Given the description of an element on the screen output the (x, y) to click on. 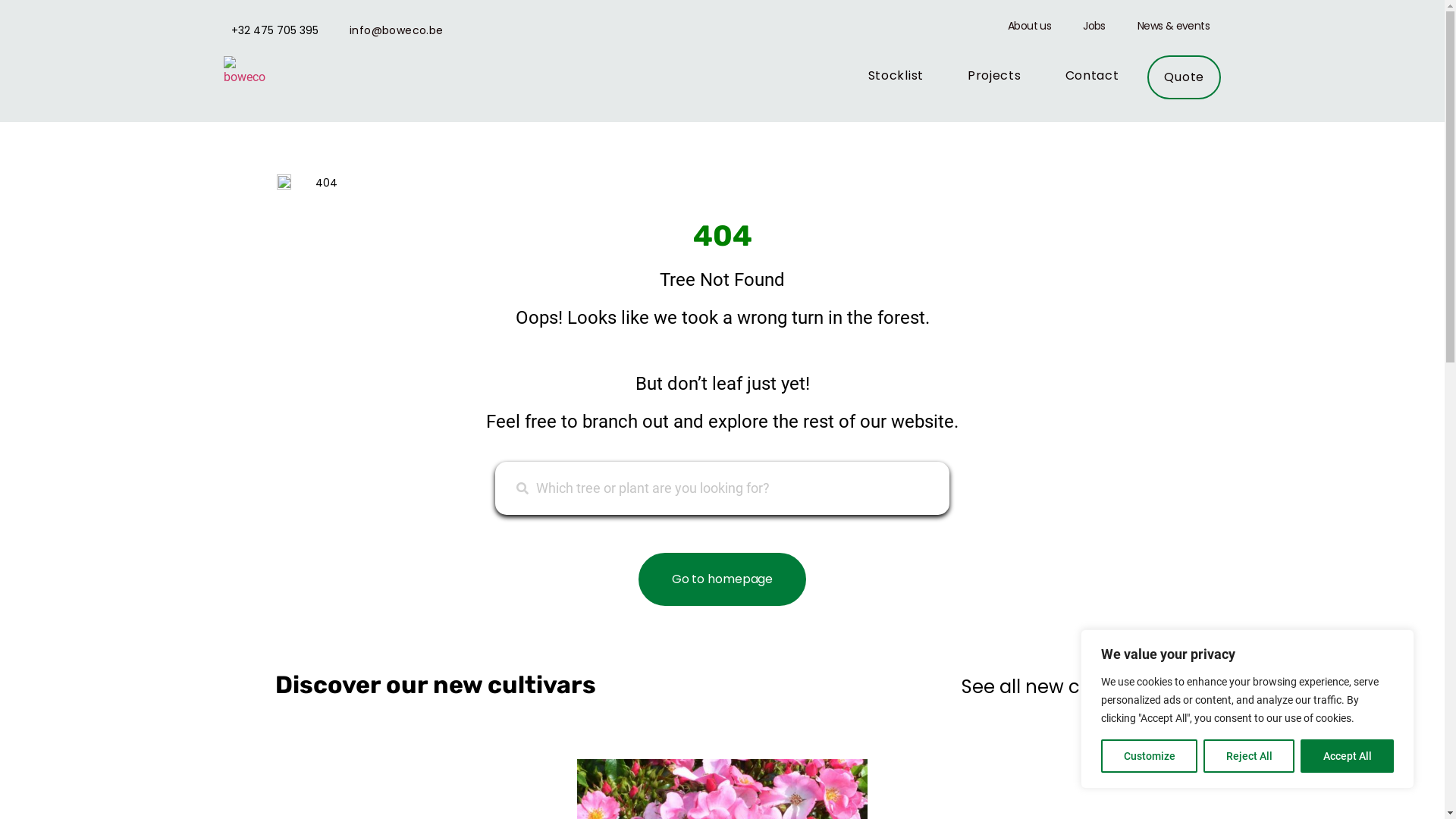
About us Element type: text (1028, 25)
Group 2555 Element type: hover (247, 71)
See all new cultivars Element type: text (1053, 686)
Go to homepage Element type: text (722, 578)
Quote Element type: text (1183, 77)
Reject All Element type: text (1248, 755)
Contact Element type: text (1092, 75)
Stocklist Element type: text (895, 75)
Accept All Element type: text (1346, 755)
Jobs Element type: text (1093, 25)
Projects Element type: text (994, 75)
Customize Element type: text (1149, 755)
info@boweco.be Element type: text (396, 29)
32 475 705 395 Element type: text (278, 29)
News & events Element type: text (1173, 25)
